Given the description of an element on the screen output the (x, y) to click on. 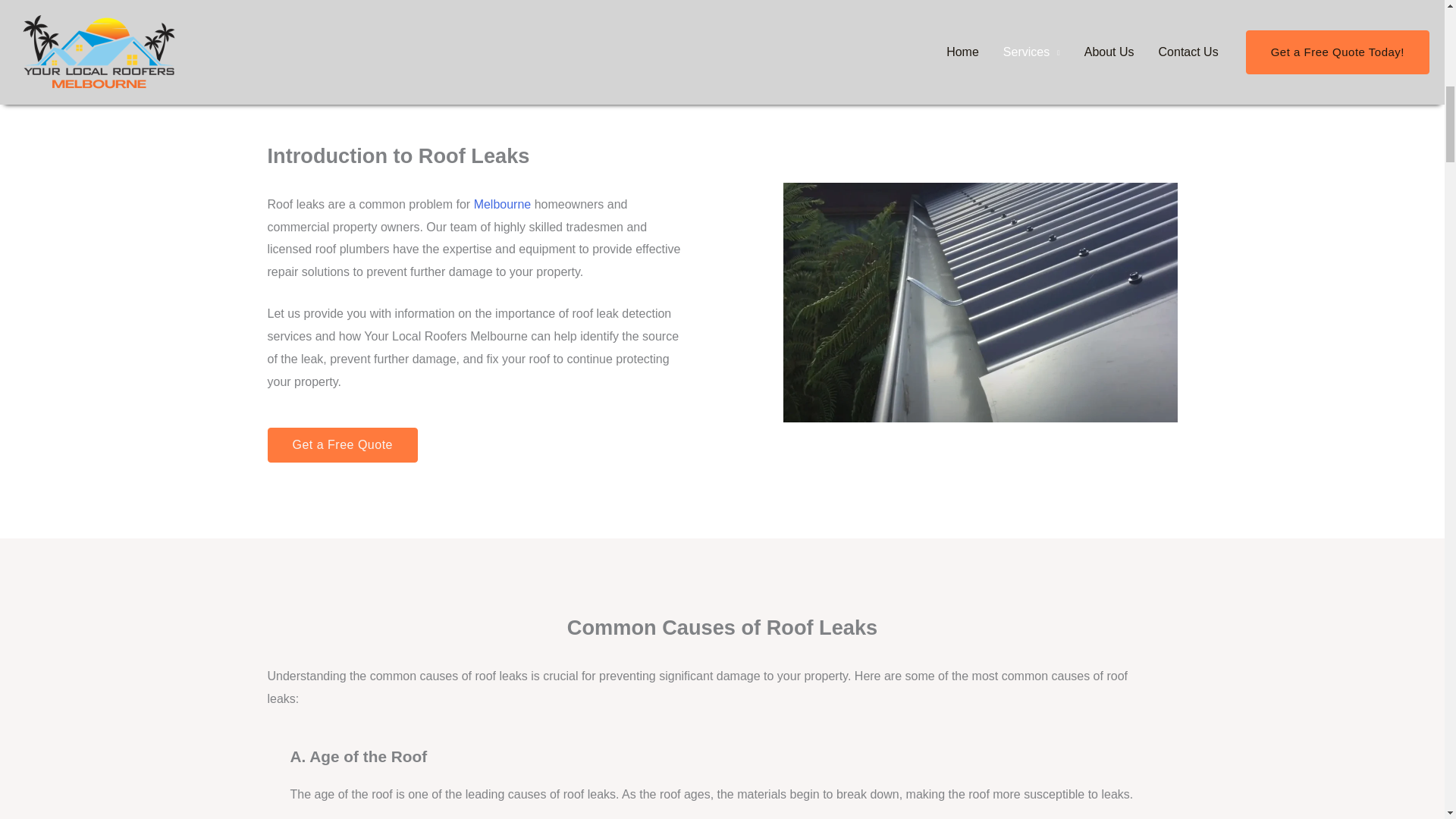
Melbourne (502, 204)
Get a Free Quote (341, 444)
